Given the description of an element on the screen output the (x, y) to click on. 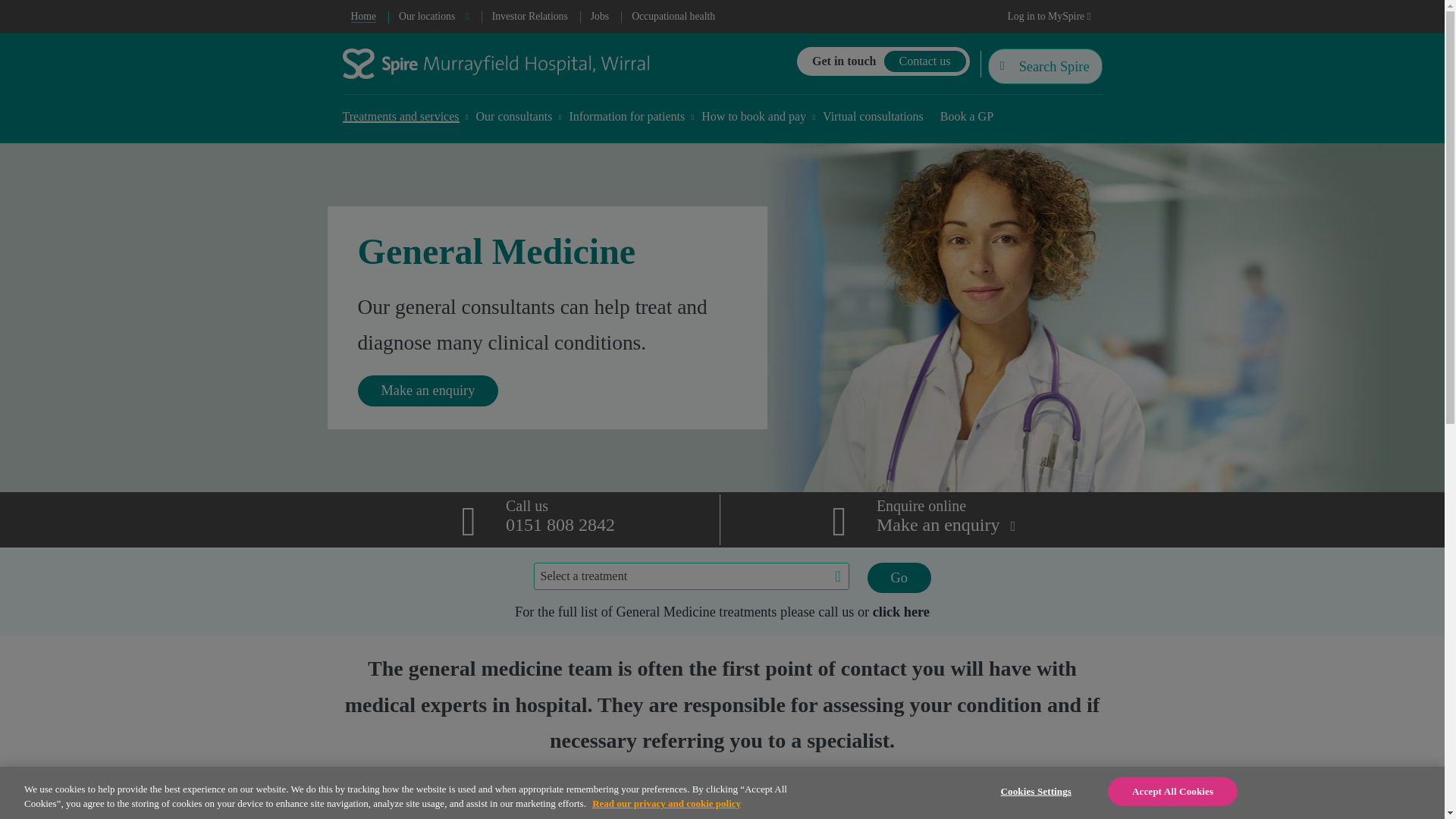
Go (899, 577)
Jobs (599, 16)
Log in to MySpire (1048, 16)
Occupational health (673, 16)
Home (363, 16)
Investor Relations (529, 16)
Our locations (433, 16)
